Given the description of an element on the screen output the (x, y) to click on. 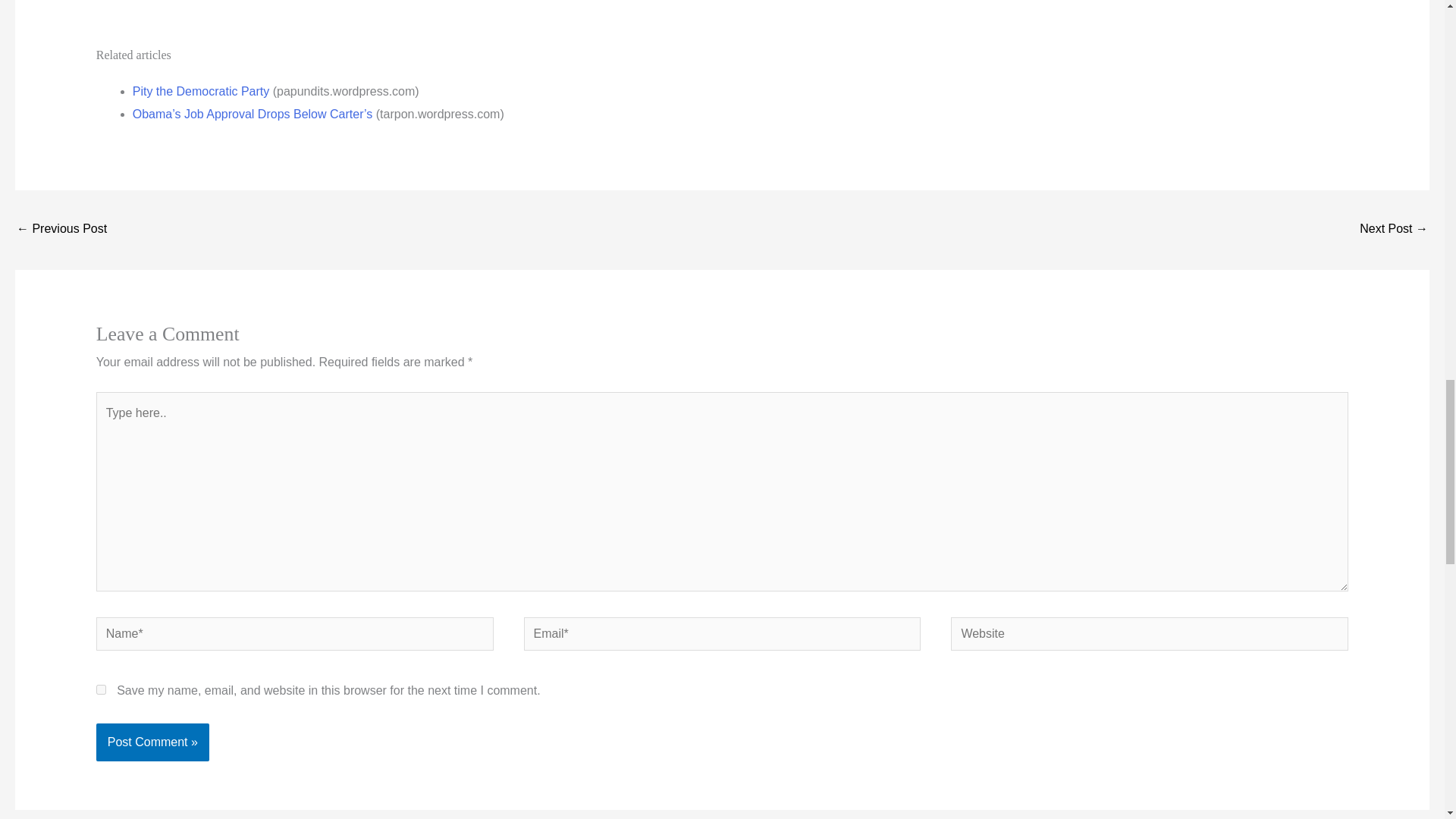
yes (101, 689)
Pity the Democratic Party (200, 91)
Conservative College Students Launch Web Site (61, 230)
